Given the description of an element on the screen output the (x, y) to click on. 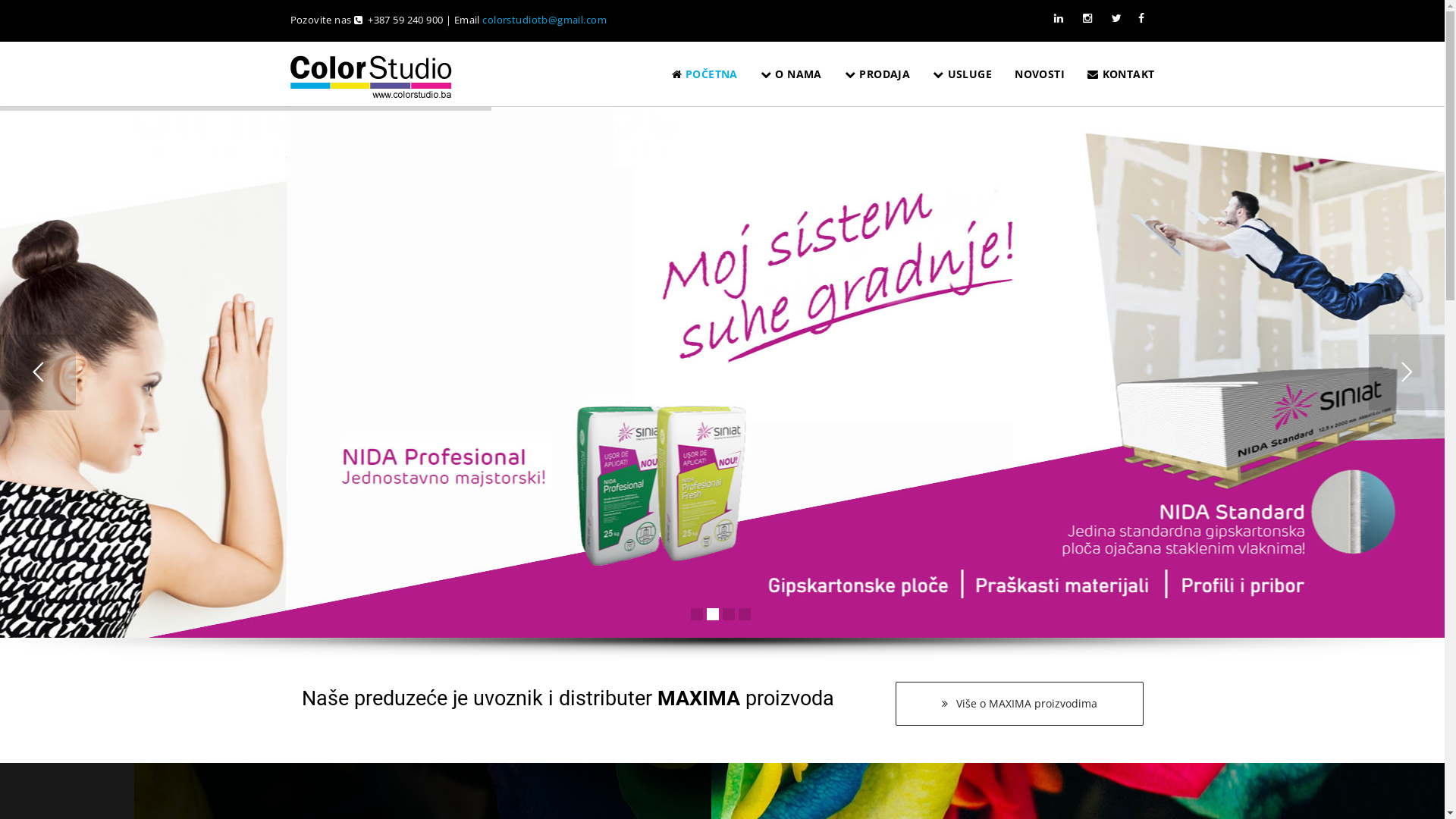
PRODAJA Element type: text (877, 73)
KONTAKT Element type: text (1120, 73)
O NAMA Element type: text (791, 73)
USLUGE Element type: text (962, 73)
NOVOSTI Element type: text (1039, 73)
colorstudiotb@gmail.com Element type: text (544, 19)
COLOR studio Element type: hover (370, 79)
